Given the description of an element on the screen output the (x, y) to click on. 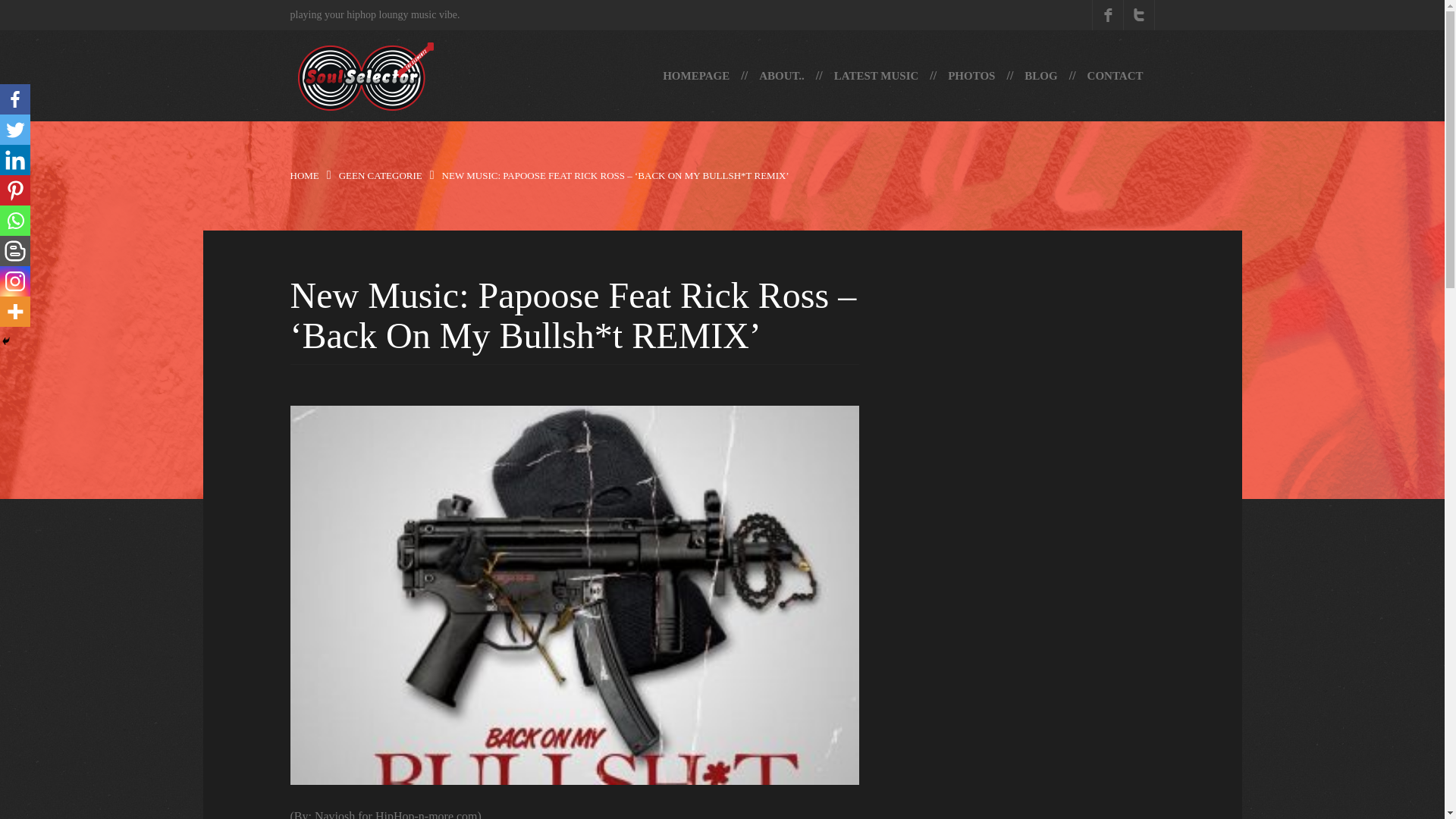
Photos (971, 75)
Contact (1114, 75)
ABOUT.. (781, 75)
HOMEPAGE (695, 75)
Blog (1040, 75)
LATEST MUSIC (876, 75)
Whatsapp (15, 220)
Hide (5, 340)
Pinterest (15, 190)
Linkedin (15, 159)
Twitter (15, 129)
Instagram (15, 281)
Blogger Post (15, 250)
BLOG (1040, 75)
Latest Music (876, 75)
